Given the description of an element on the screen output the (x, y) to click on. 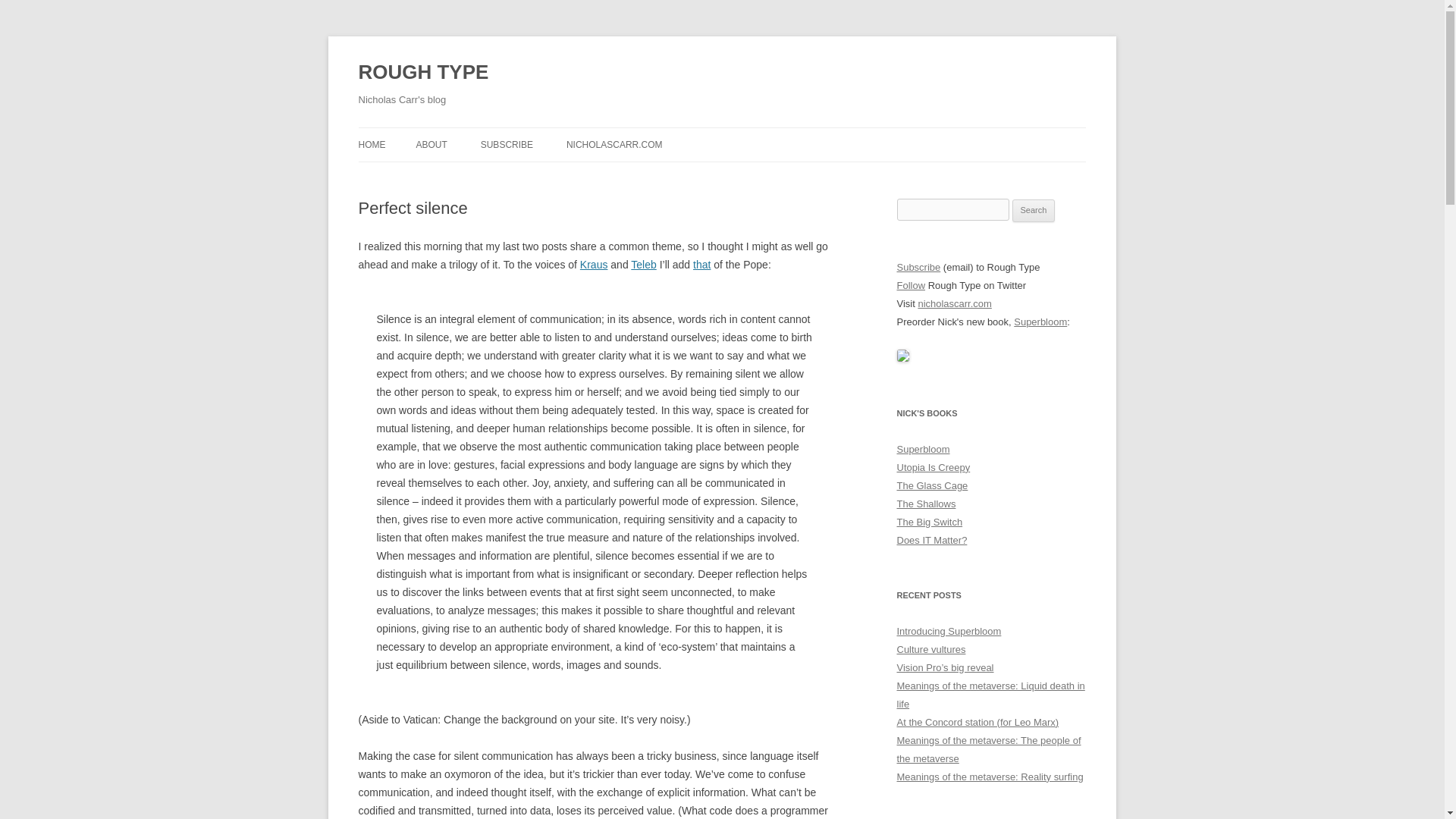
ROUGH TYPE (422, 72)
The Glass Cage (932, 485)
that (701, 264)
Does IT Matter? book site (931, 540)
SUBSCRIBE (506, 144)
Superbloom (922, 449)
The Big Switch (929, 521)
The Shallows book site (925, 503)
The Shallows (925, 503)
The Big Switch book site (929, 521)
